Given the description of an element on the screen output the (x, y) to click on. 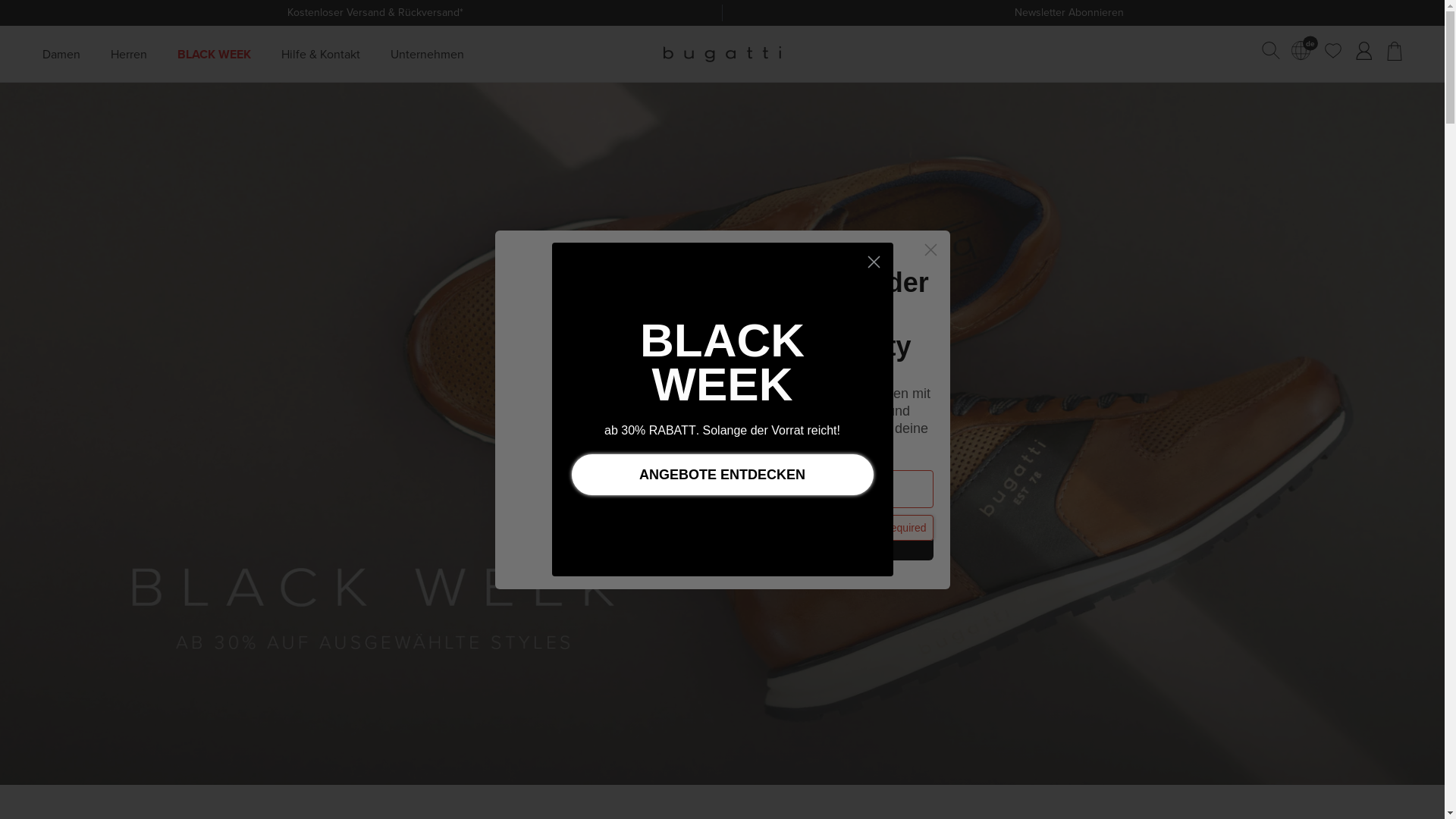
BLACK WEEK Element type: text (214, 53)
bugatti shoes Element type: hover (722, 53)
<p>Newsletter Abonnieren</p> Element type: hover (1059, 12)
Close dialog 3 Element type: text (872, 261)
Damen Element type: text (61, 53)
Anmelden Element type: text (1363, 50)
Unternehmen Element type: text (427, 53)
Warenkorb
0 Artikel Element type: text (1394, 50)
Submit Element type: text (18, 8)
ANGEBOTE ENTDECKEN Element type: text (722, 473)
Herren Element type: text (128, 53)
Close dialog 2 Element type: text (930, 249)
Hilfe & Kontakt Element type: text (320, 53)
REGISTRIEREN Element type: text (835, 538)
